Given the description of an element on the screen output the (x, y) to click on. 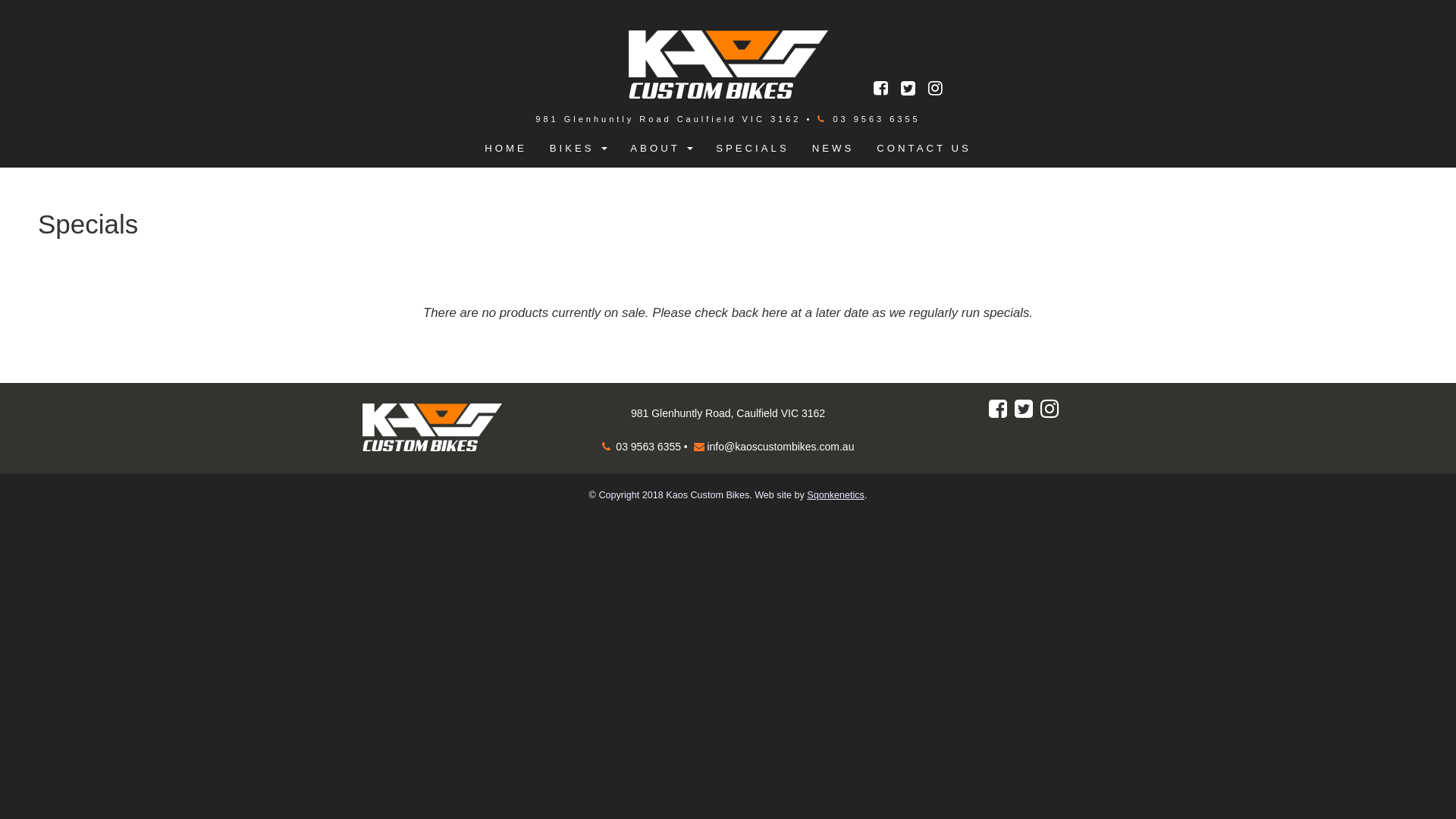
BIKES Element type: text (578, 150)
NEWS Element type: text (833, 150)
 03 9563 6355 Element type: text (646, 446)
info@kaoscustombikes.com.au Element type: text (779, 446)
CONTACT US Element type: text (923, 150)
SPECIALS Element type: text (752, 150)
HOME Element type: text (505, 150)
Sqonkenetics Element type: text (835, 494)
ABOUT Element type: text (661, 150)
